Given the description of an element on the screen output the (x, y) to click on. 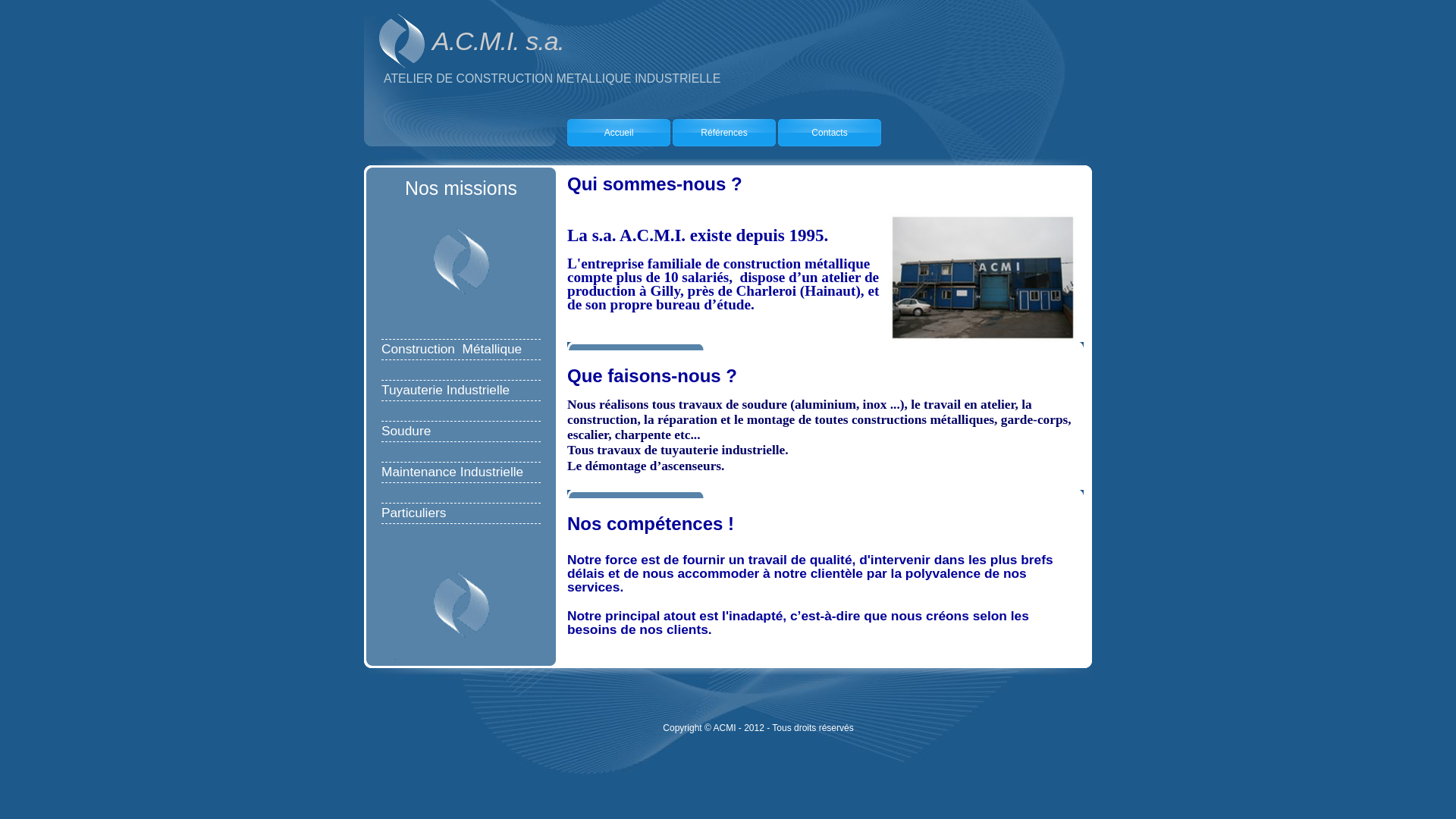
Contacts Element type: text (829, 132)
Tuyauterie Industrielle Element type: text (445, 390)
Particuliers Element type: text (413, 513)
Maintenance Industrielle Element type: text (452, 472)
Accueil Element type: text (618, 132)
Soudure Element type: text (405, 431)
